Given the description of an element on the screen output the (x, y) to click on. 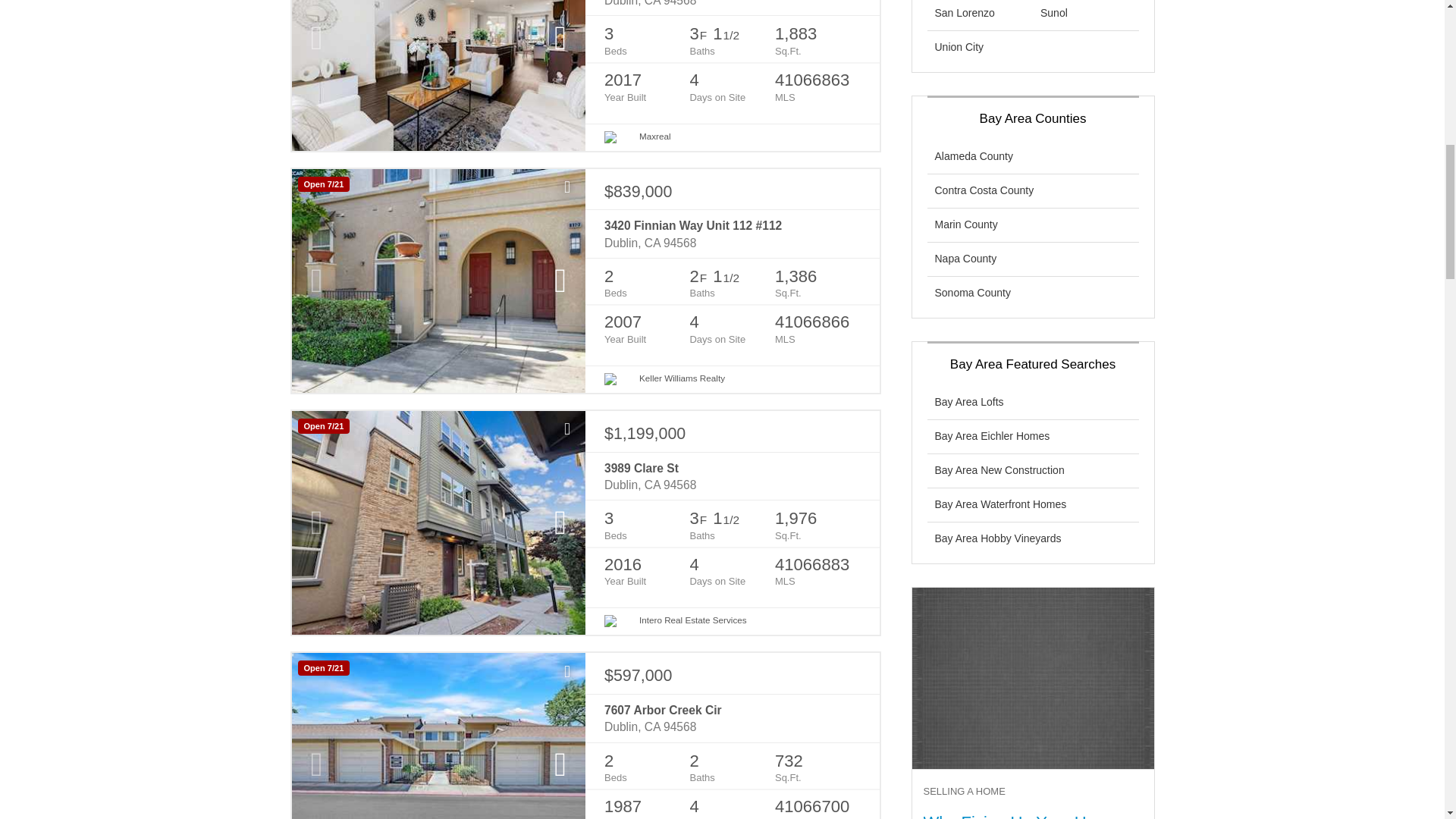
4251 Sunset View Drive Dublin,  CA 94568 (732, 4)
